Given the description of an element on the screen output the (x, y) to click on. 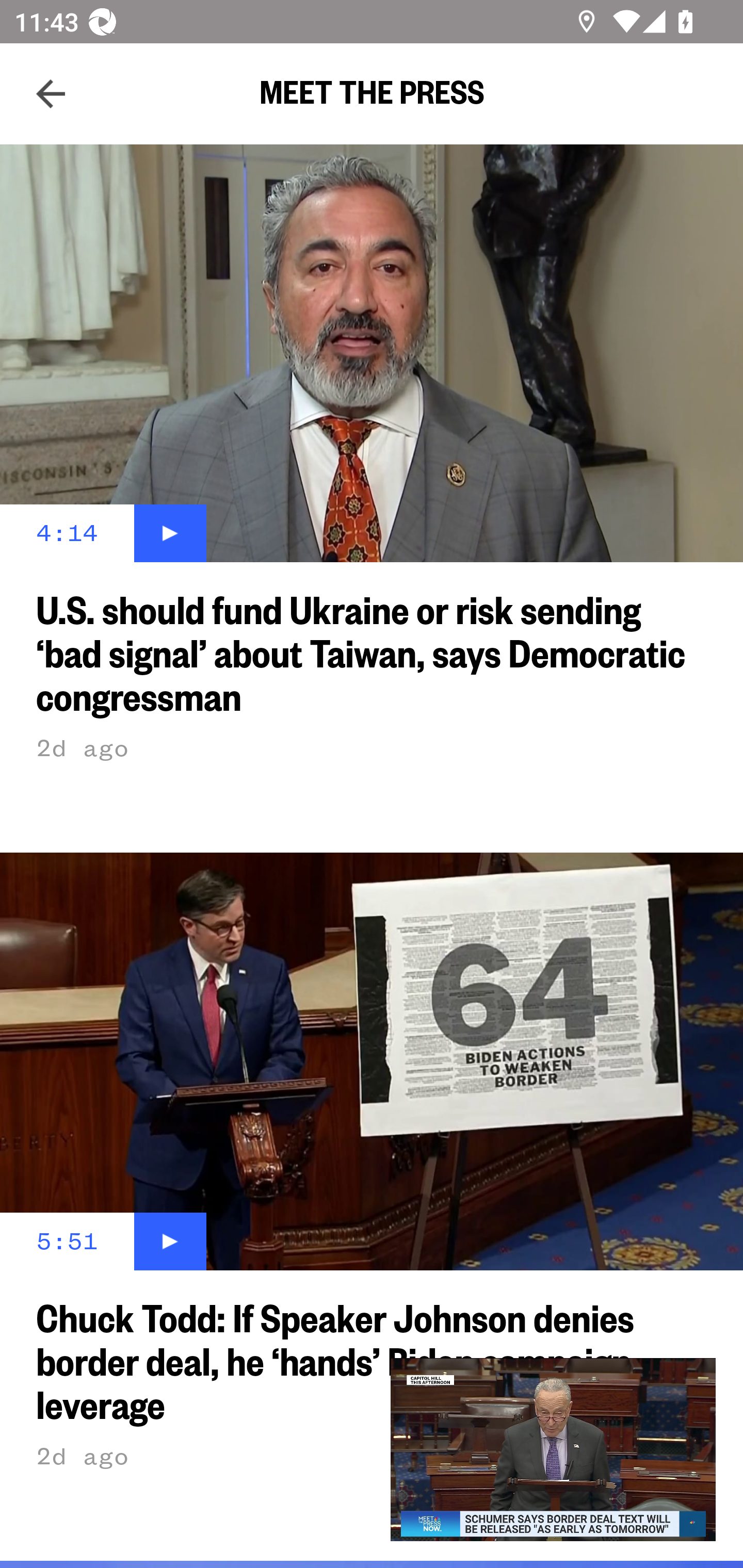
Navigate up (50, 93)
